Given the description of an element on the screen output the (x, y) to click on. 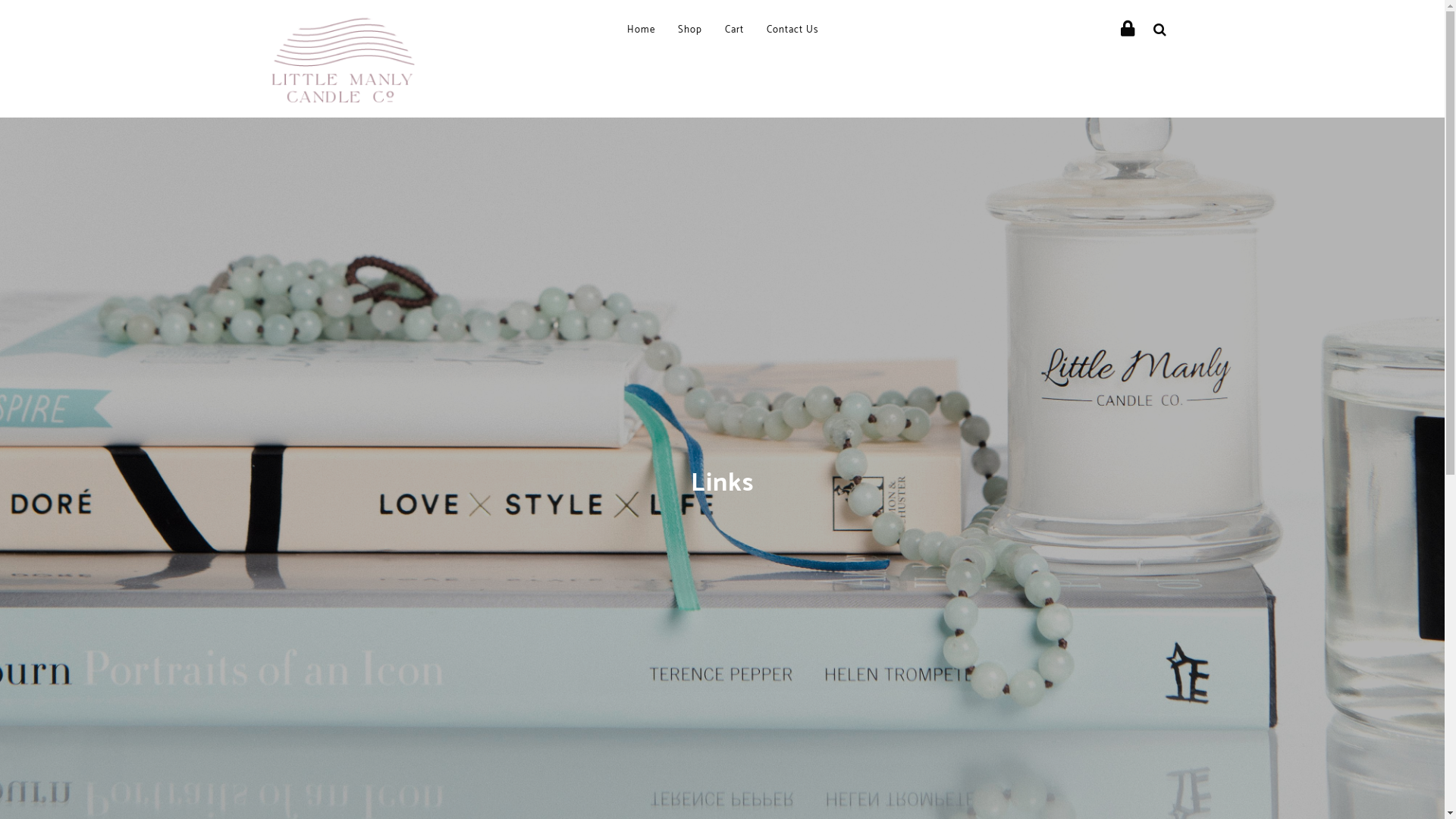
Contact Us Element type: text (791, 30)
Cart Element type: text (734, 30)
Shop Element type: text (689, 30)
Home Element type: text (640, 30)
